Given the description of an element on the screen output the (x, y) to click on. 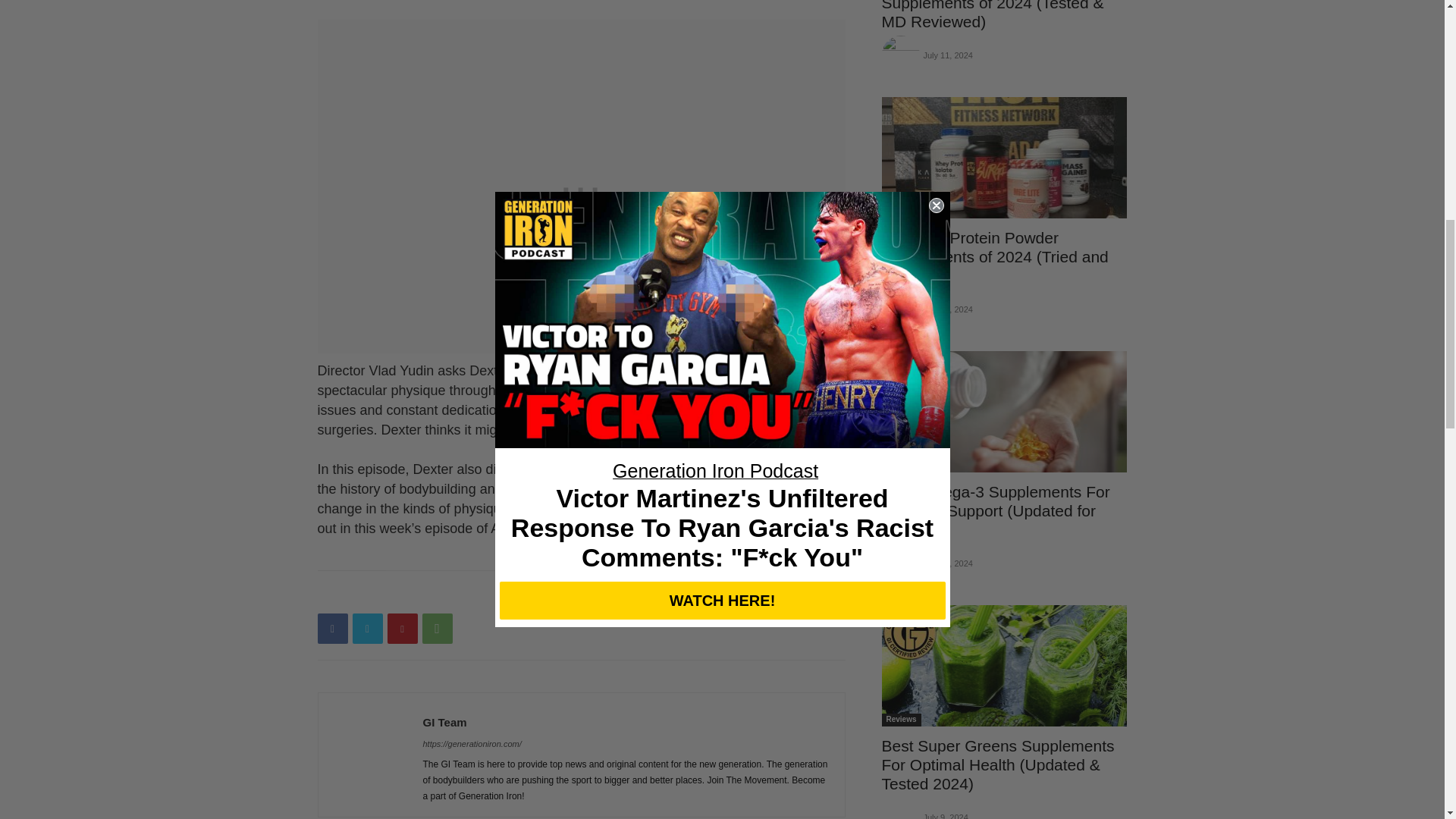
bottomFacebookLike (430, 594)
Pinterest (401, 628)
WhatsApp (436, 628)
Facebook (332, 628)
Twitter (366, 628)
